Given the description of an element on the screen output the (x, y) to click on. 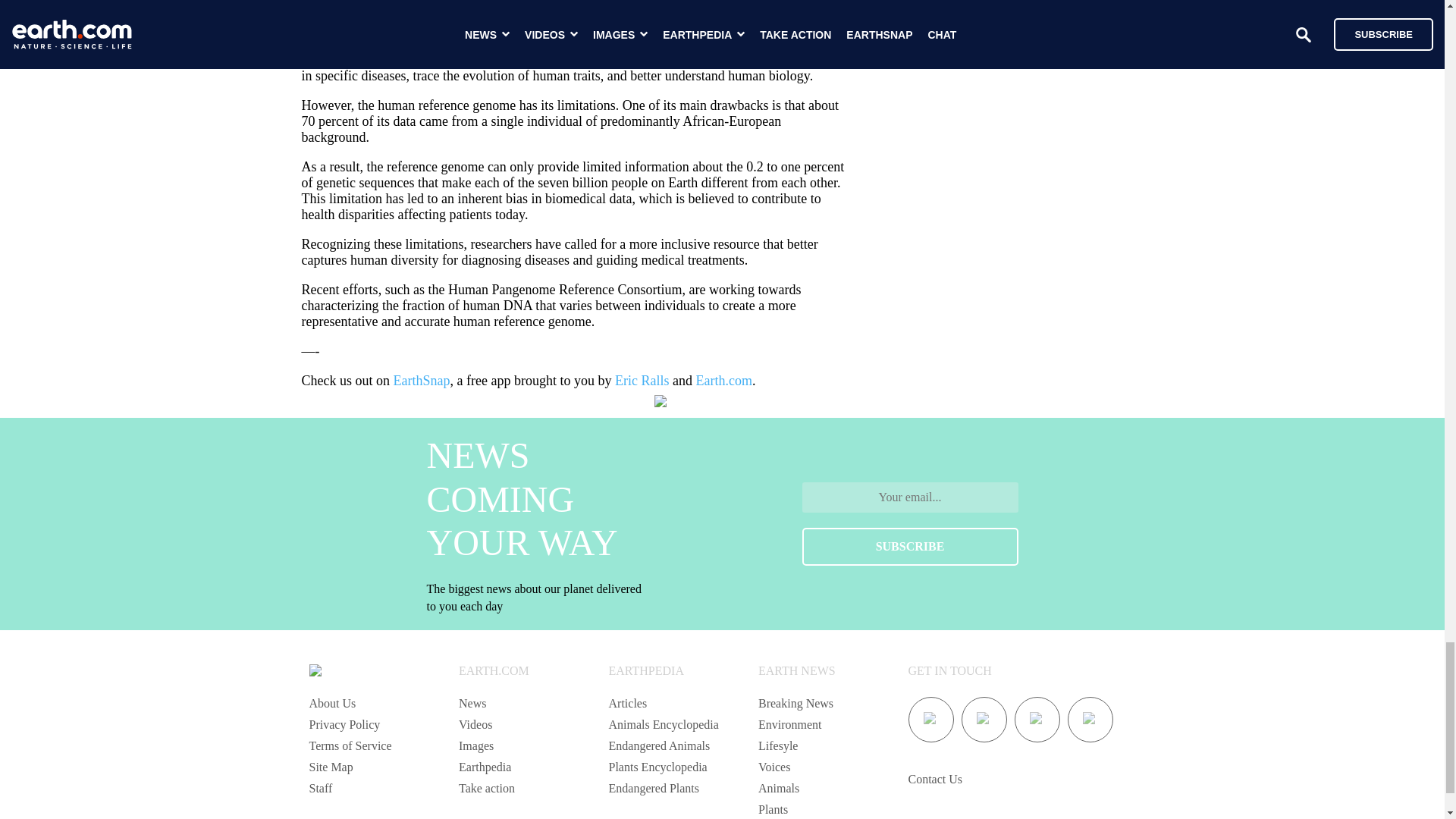
Eric Ralls (641, 380)
Earth.com (723, 380)
EarthSnap (421, 380)
